Given the description of an element on the screen output the (x, y) to click on. 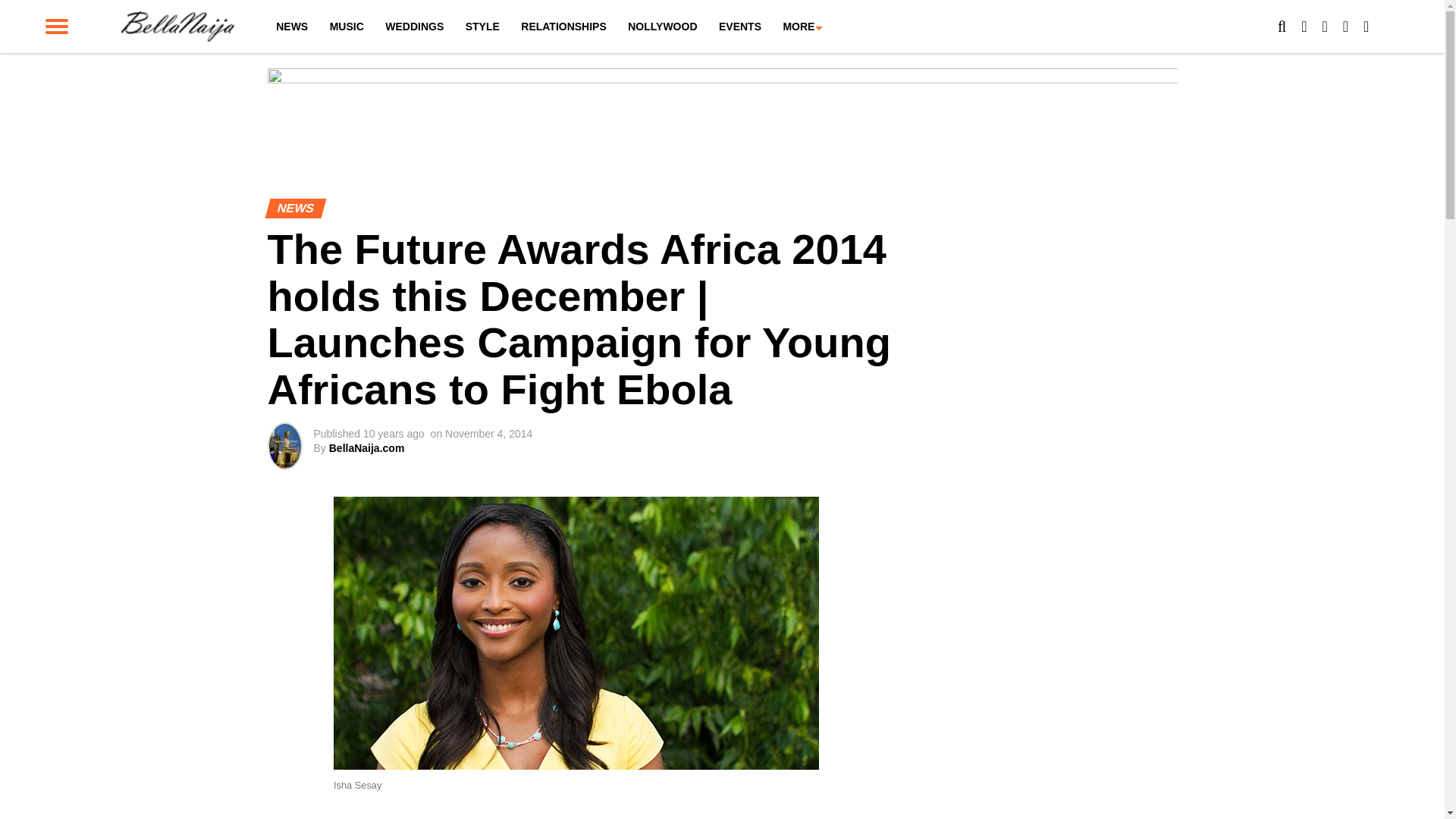
MUSIC (346, 26)
MORE (798, 26)
RELATIONSHIPS (563, 26)
NEWS (291, 26)
EVENTS (740, 26)
NOLLYWOOD (662, 26)
STYLE (482, 26)
WEDDINGS (413, 26)
